Given the description of an element on the screen output the (x, y) to click on. 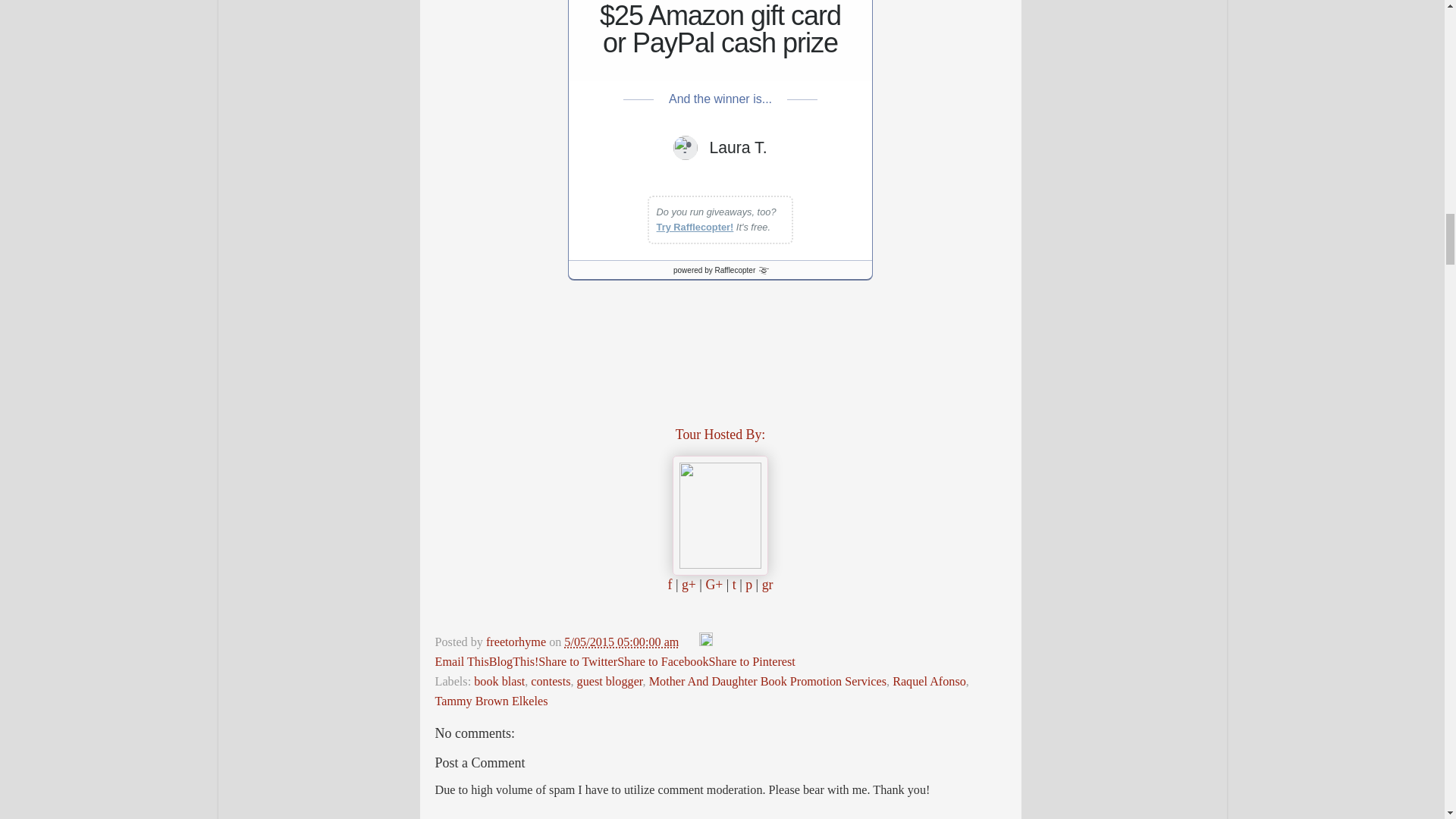
Email This (462, 662)
Share to Pinterest (751, 662)
permanent link (621, 642)
Edit Post (705, 642)
Share to Twitter (577, 662)
Email Post (689, 642)
author profile (517, 642)
BlogThis! (513, 662)
Tour Hosted By: (720, 434)
Share to Facebook (662, 662)
